Given the description of an element on the screen output the (x, y) to click on. 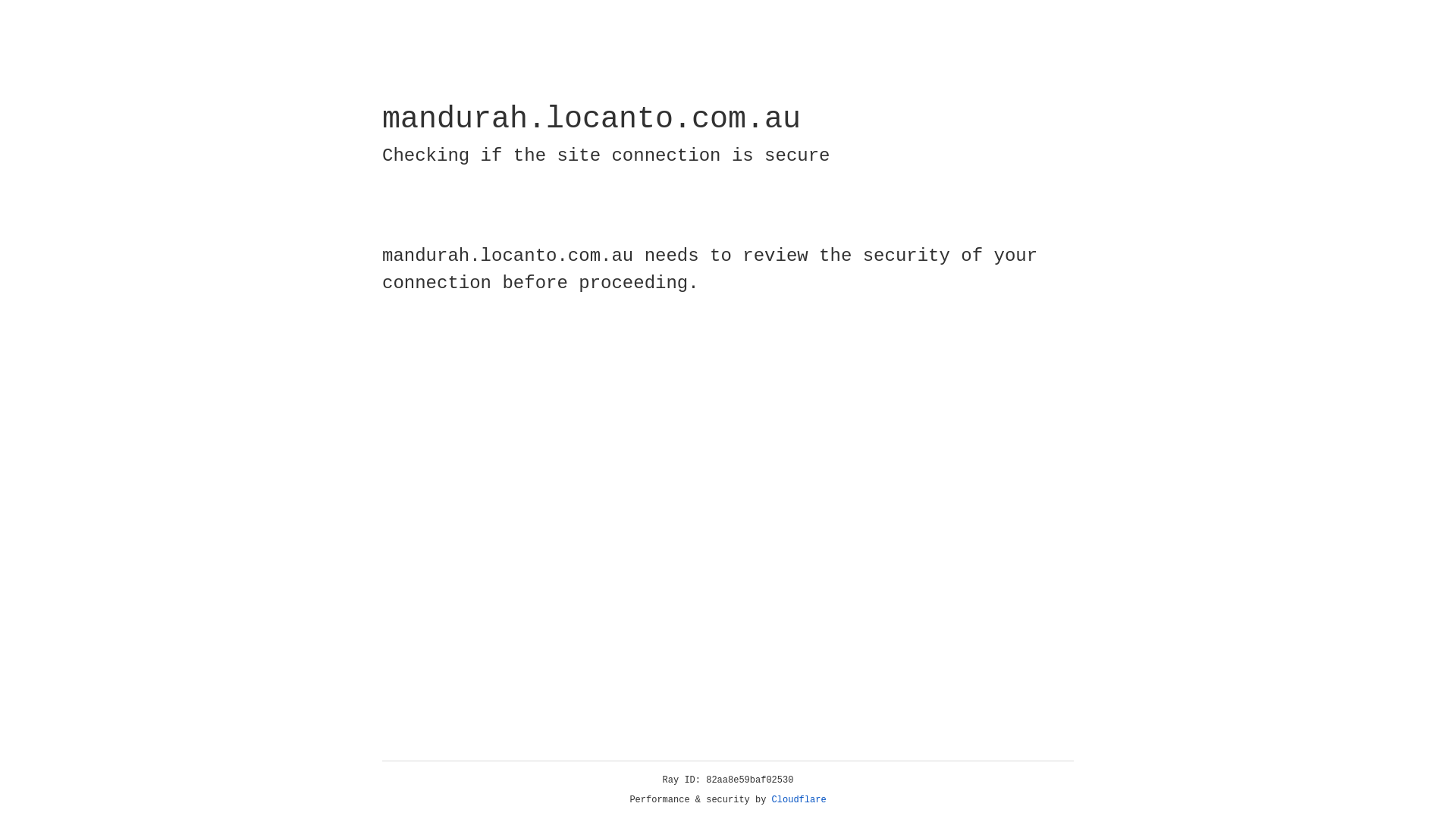
Cloudflare Element type: text (798, 799)
